Given the description of an element on the screen output the (x, y) to click on. 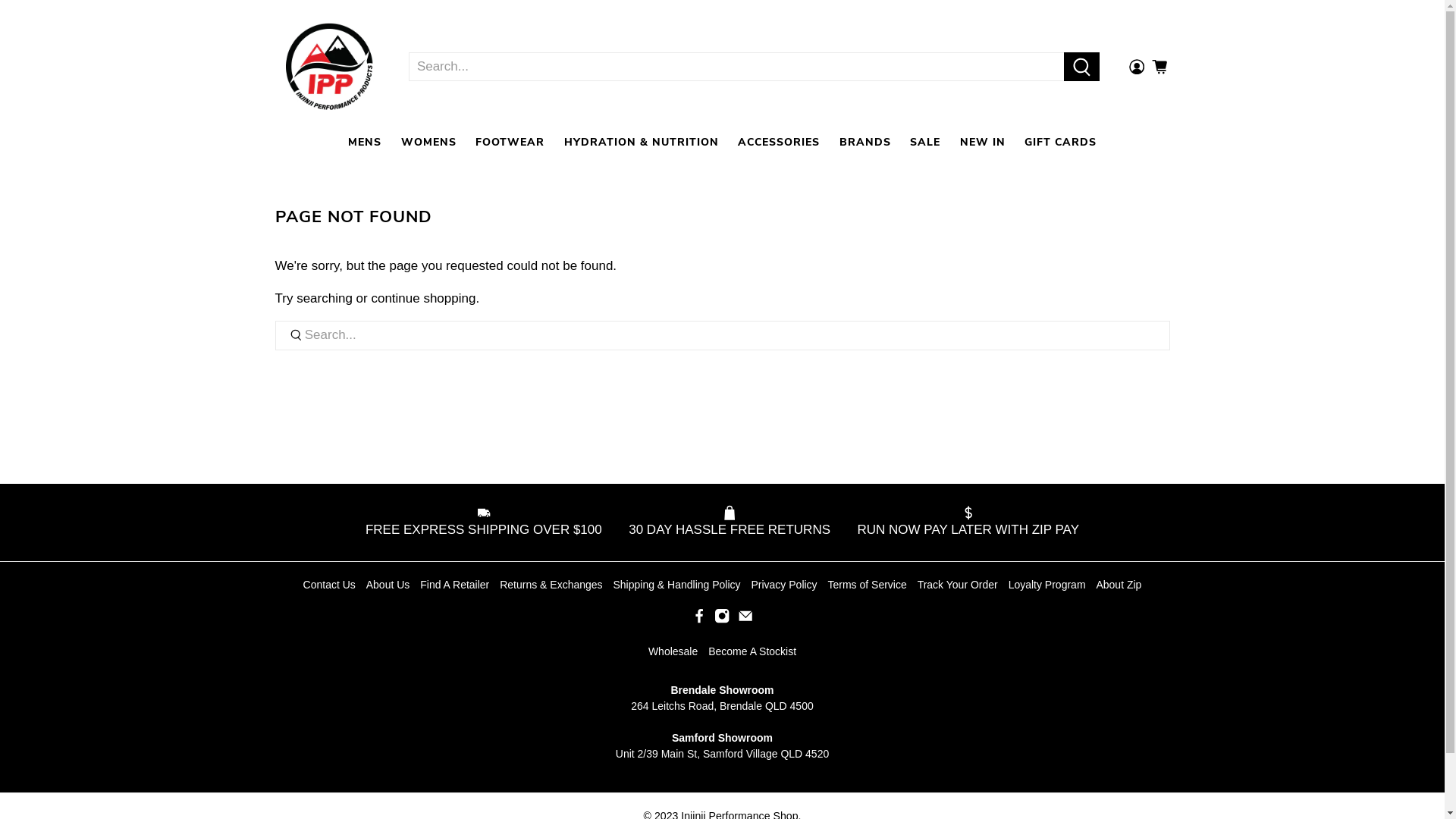
Unit 2/39 Main St, Samford Village QLD 4520 Element type: text (721, 753)
BRANDS Element type: text (864, 142)
HYDRATION & NUTRITION Element type: text (641, 142)
Injinji Performance Shop on Instagram Element type: hover (721, 620)
About Us Element type: text (388, 584)
264 Leitchs Road, Brendale QLD 4500 Element type: text (721, 705)
Injinji Performance Shop Element type: hover (329, 67)
Terms of Service Element type: text (867, 584)
Track Your Order Element type: text (957, 584)
GIFT CARDS Element type: text (1060, 142)
FREE EXPRESS SHIPPING OVER $100 Element type: text (488, 522)
Loyalty Program Element type: text (1046, 584)
RUN NOW PAY LATER WITH ZIP PAY Element type: text (963, 522)
Become A Stockist Element type: text (752, 651)
Returns & Exchanges Element type: text (550, 584)
ACCESSORIES Element type: text (778, 142)
Find A Retailer Element type: text (454, 584)
Wholesale Element type: text (672, 651)
NEW IN Element type: text (982, 142)
Privacy Policy Element type: text (783, 584)
Contact Us Element type: text (329, 584)
Injinji Performance Shop on Facebook Element type: hover (698, 620)
Email Injinji Performance Shop Element type: hover (745, 620)
continue shopping Element type: text (422, 298)
FOOTWEAR Element type: text (509, 142)
WOMENS Element type: text (428, 142)
30 DAY HASSLE FREE RETURNS Element type: text (729, 522)
MENS Element type: text (364, 142)
Shipping & Handling Policy Element type: text (676, 584)
SALE Element type: text (925, 142)
About Zip Element type: text (1118, 584)
